Given the description of an element on the screen output the (x, y) to click on. 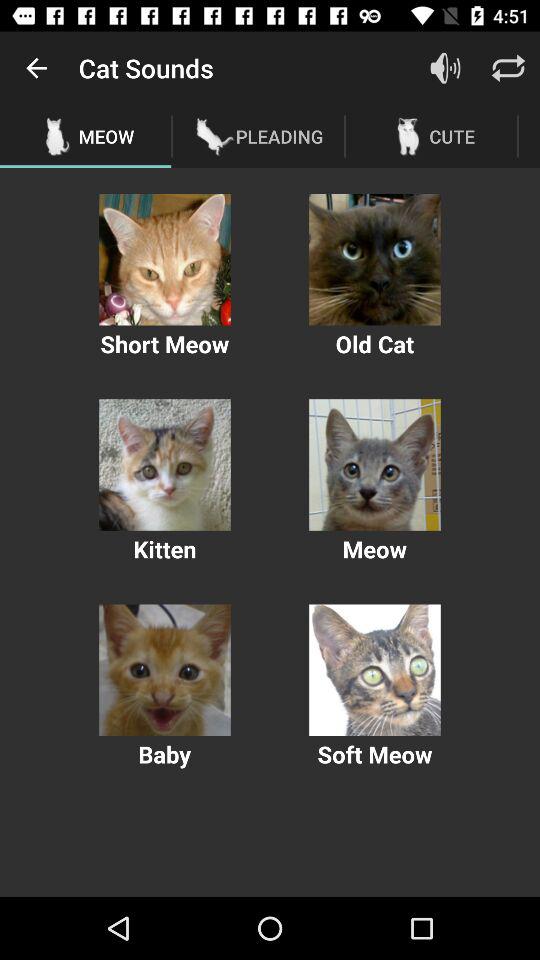
toggles the volume (445, 67)
